Given the description of an element on the screen output the (x, y) to click on. 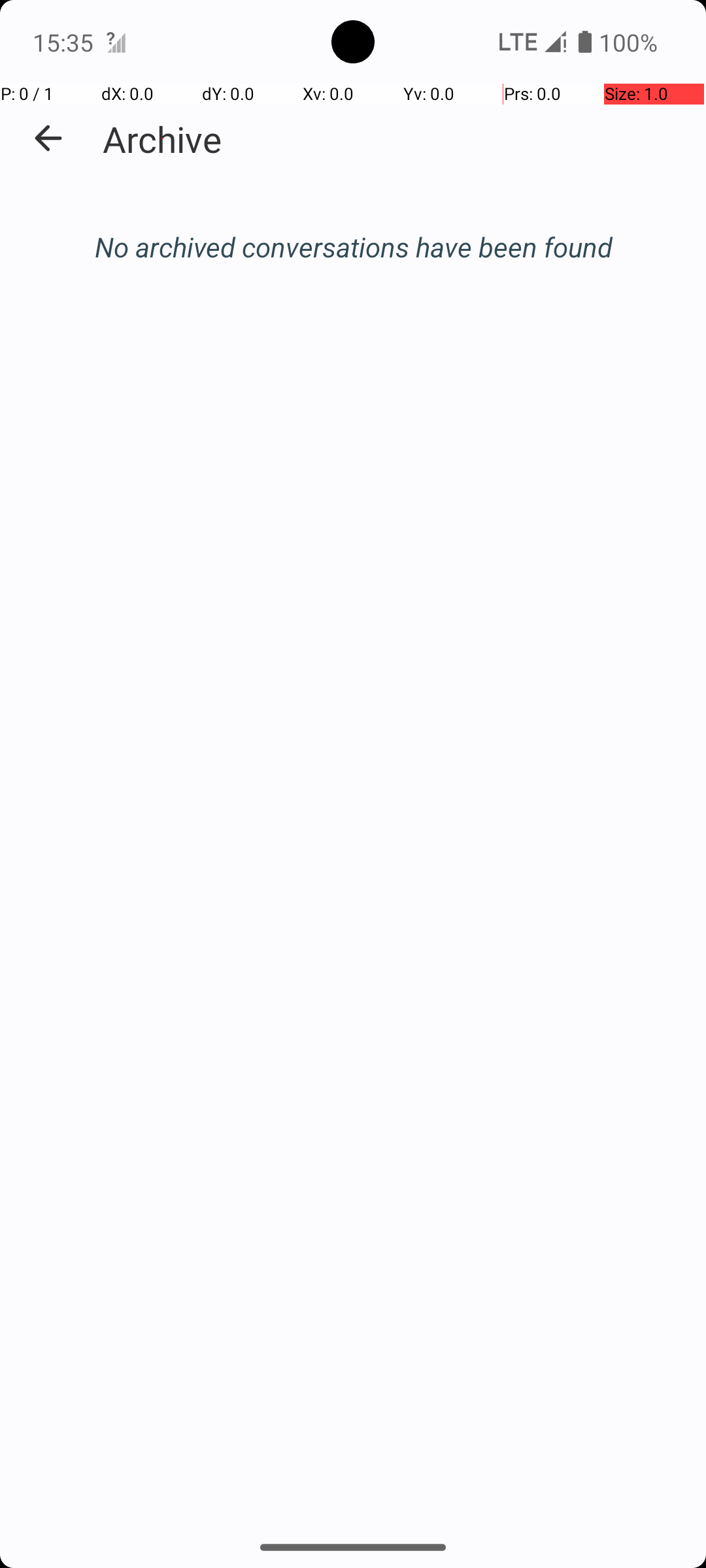
Archive Element type: android.widget.TextView (162, 138)
No archived conversations have been found Element type: android.widget.TextView (353, 246)
